Given the description of an element on the screen output the (x, y) to click on. 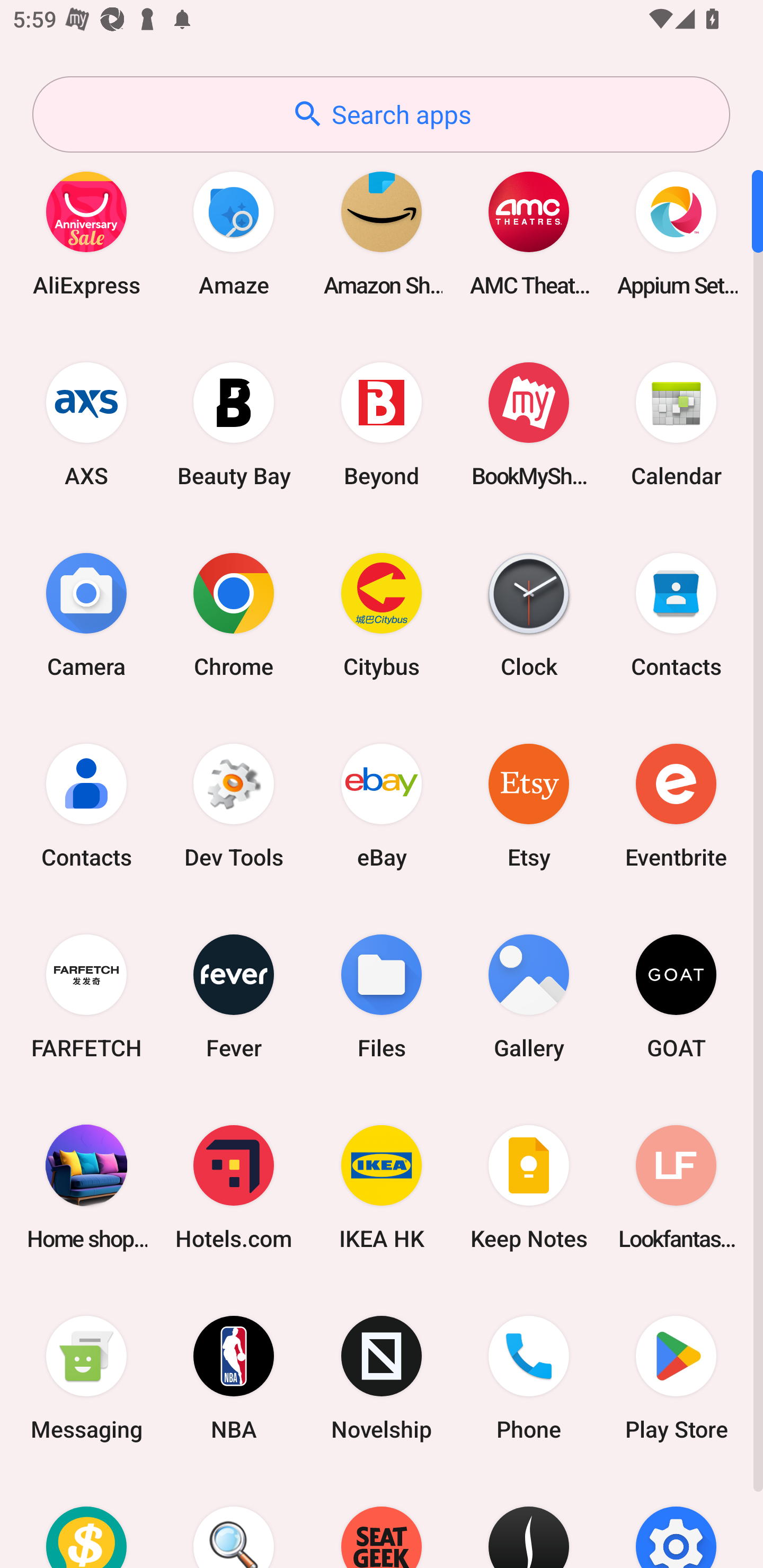
  Search apps (381, 114)
AliExpress (86, 233)
Amaze (233, 233)
Amazon Shopping (381, 233)
AMC Theatres (528, 233)
Appium Settings (676, 233)
AXS (86, 424)
Beauty Bay (233, 424)
Beyond (381, 424)
BookMyShow (528, 424)
Calendar (676, 424)
Camera (86, 614)
Chrome (233, 614)
Citybus (381, 614)
Clock (528, 614)
Contacts (676, 614)
Contacts (86, 805)
Dev Tools (233, 805)
eBay (381, 805)
Etsy (528, 805)
Eventbrite (676, 805)
FARFETCH (86, 996)
Fever (233, 996)
Files (381, 996)
Gallery (528, 996)
GOAT (676, 996)
Home shopping (86, 1186)
Hotels.com (233, 1186)
IKEA HK (381, 1186)
Keep Notes (528, 1186)
Lookfantastic (676, 1186)
Messaging (86, 1377)
NBA (233, 1377)
Novelship (381, 1377)
Phone (528, 1377)
Play Store (676, 1377)
